Given the description of an element on the screen output the (x, y) to click on. 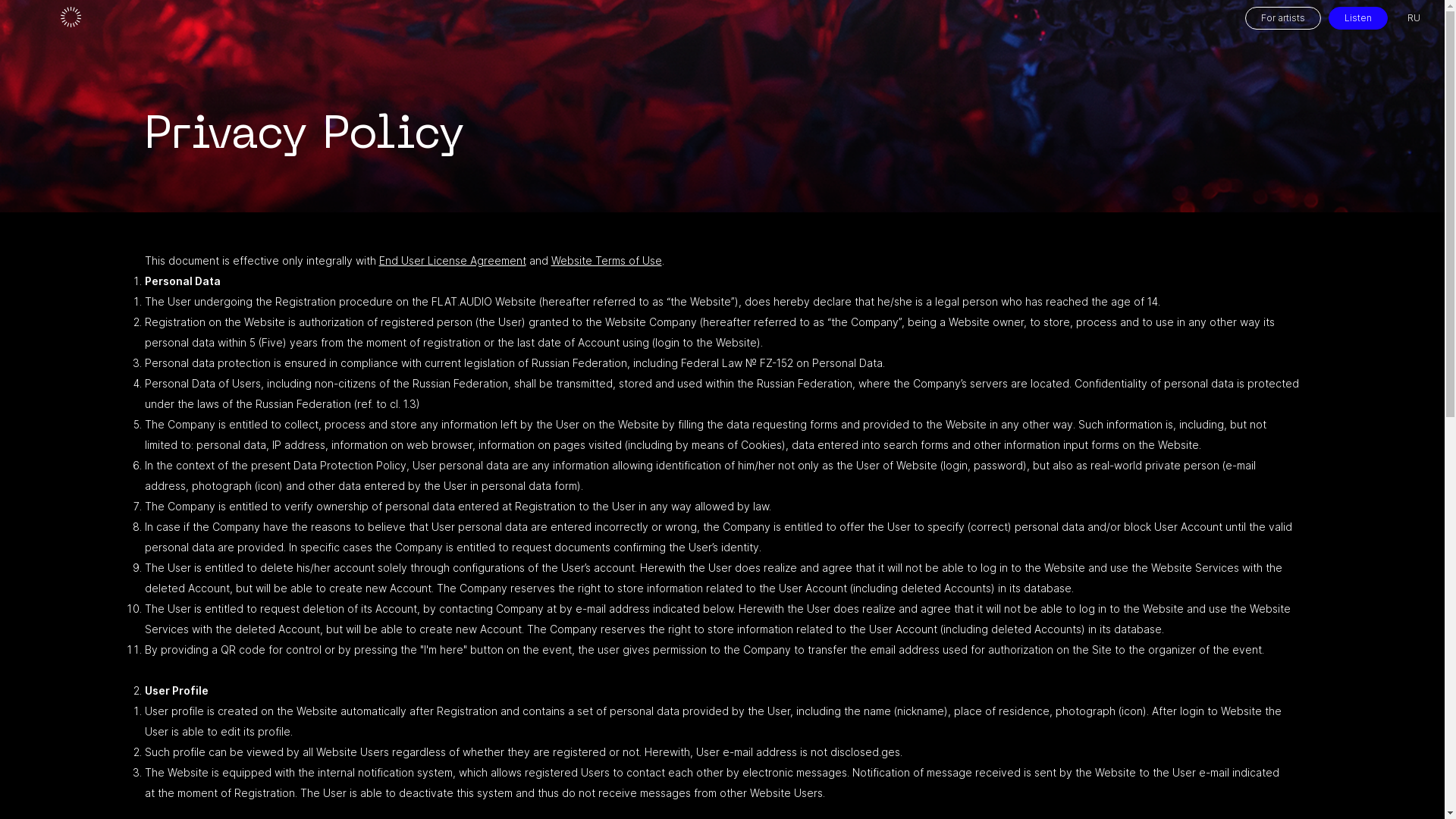
For artists Element type: text (1283, 17)
End User License Agreement Element type: text (452, 260)
Website Terms of Use Element type: text (605, 260)
Listen Element type: text (1357, 17)
RU Element type: text (1413, 17)
